Given the description of an element on the screen output the (x, y) to click on. 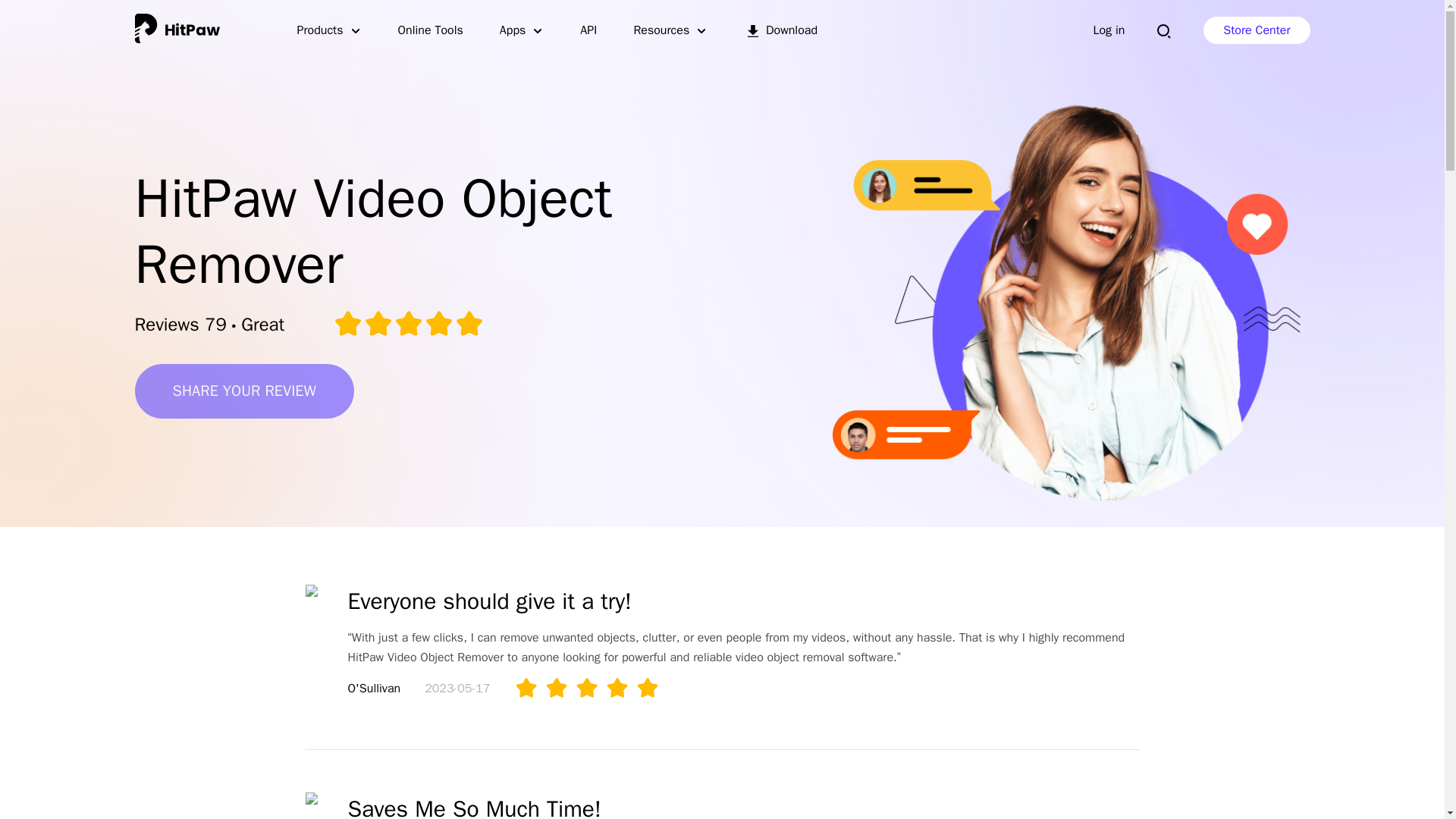
Store Center (1256, 30)
Products (329, 30)
Log in (1108, 30)
